Given the description of an element on the screen output the (x, y) to click on. 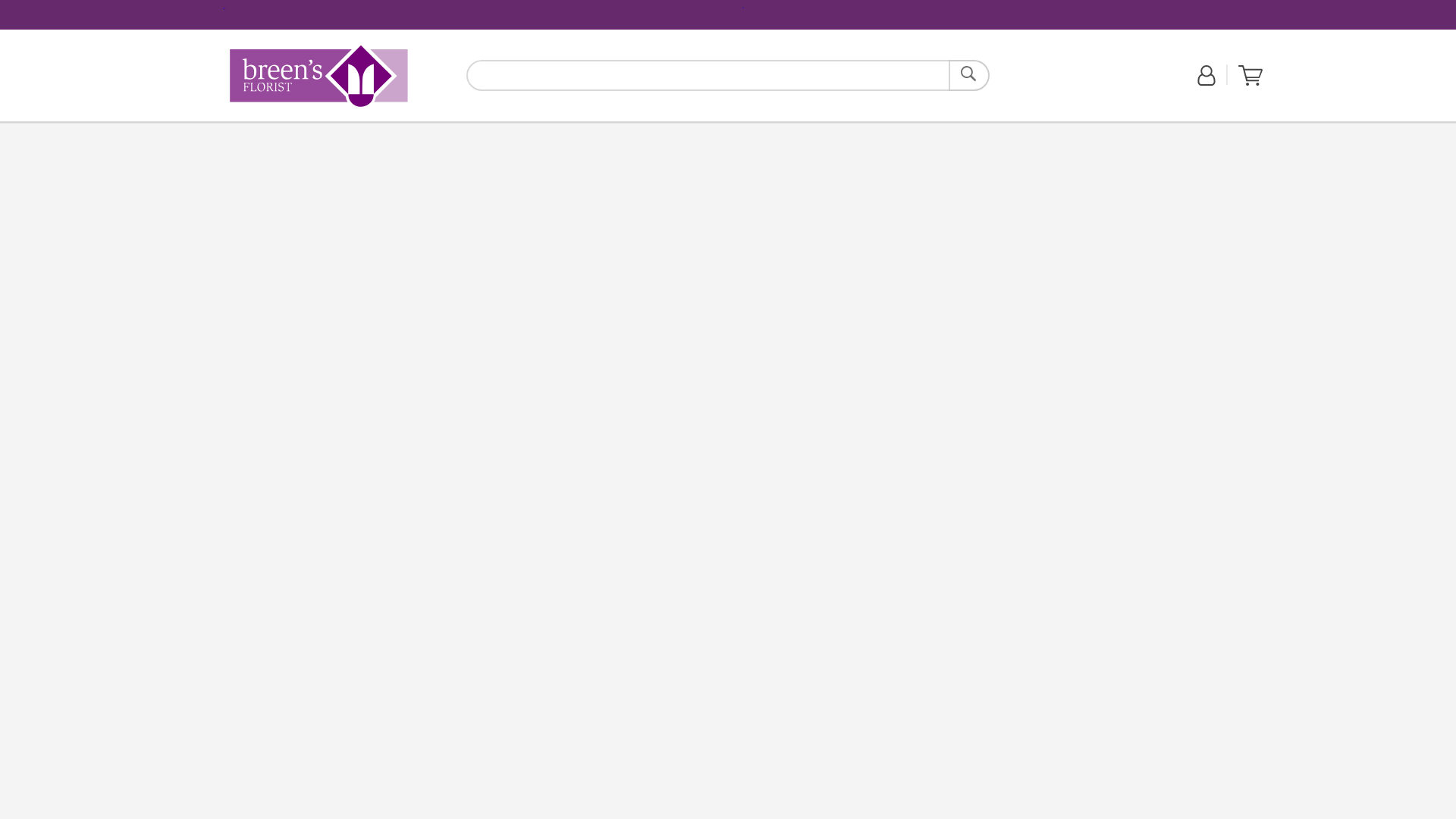
Back to the Home Page (318, 76)
All Occasions (318, 76)
Breen's Florist Logo (492, 130)
View Your Shopping Cart (317, 76)
Sympathy (1250, 75)
Get Well (435, 130)
Just Because (334, 129)
Search (381, 129)
View Your Shopping Cart (969, 74)
